Given the description of an element on the screen output the (x, y) to click on. 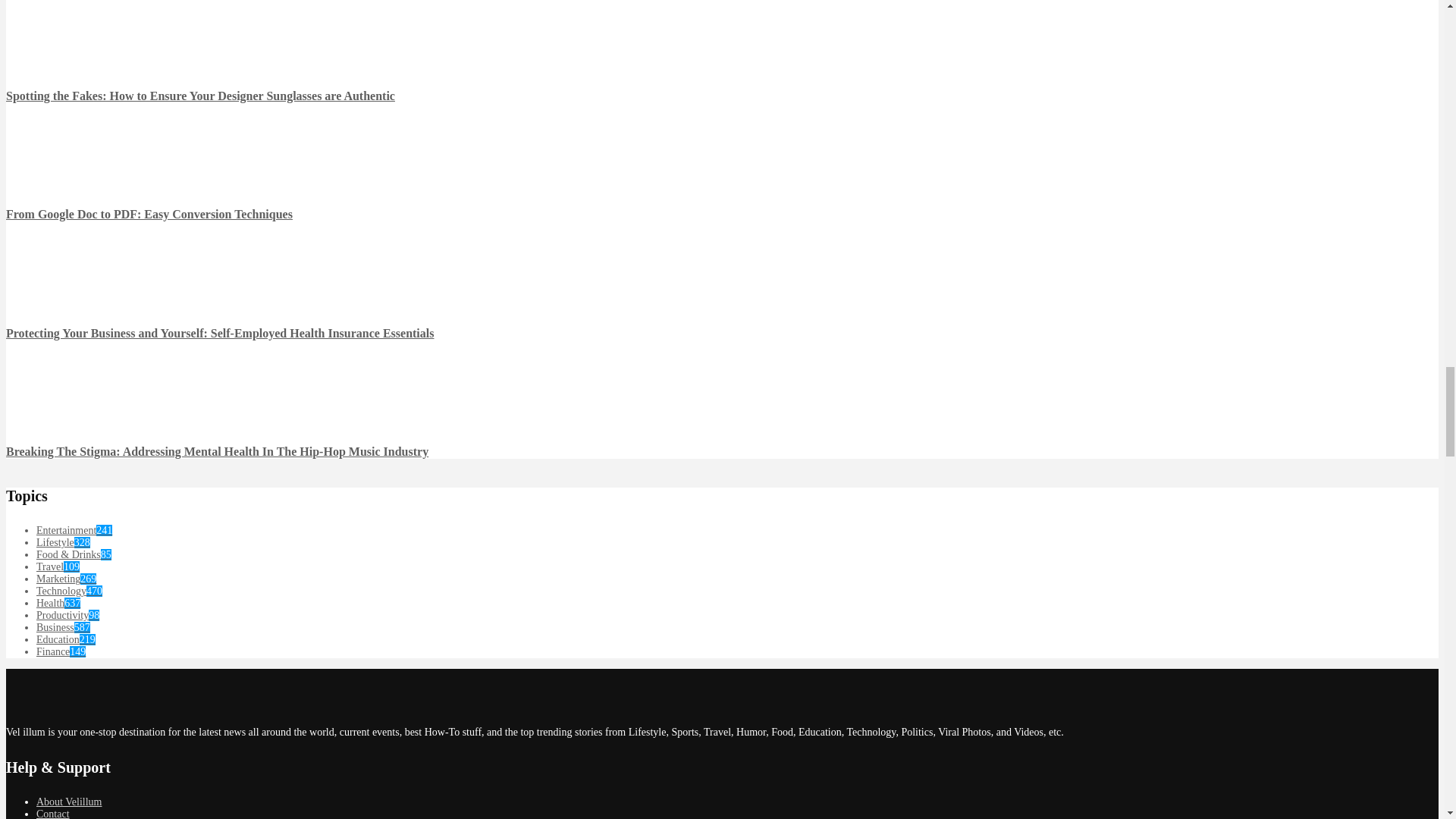
From Google Doc to PDF: Easy Conversion Techniques (35, 173)
